Given the description of an element on the screen output the (x, y) to click on. 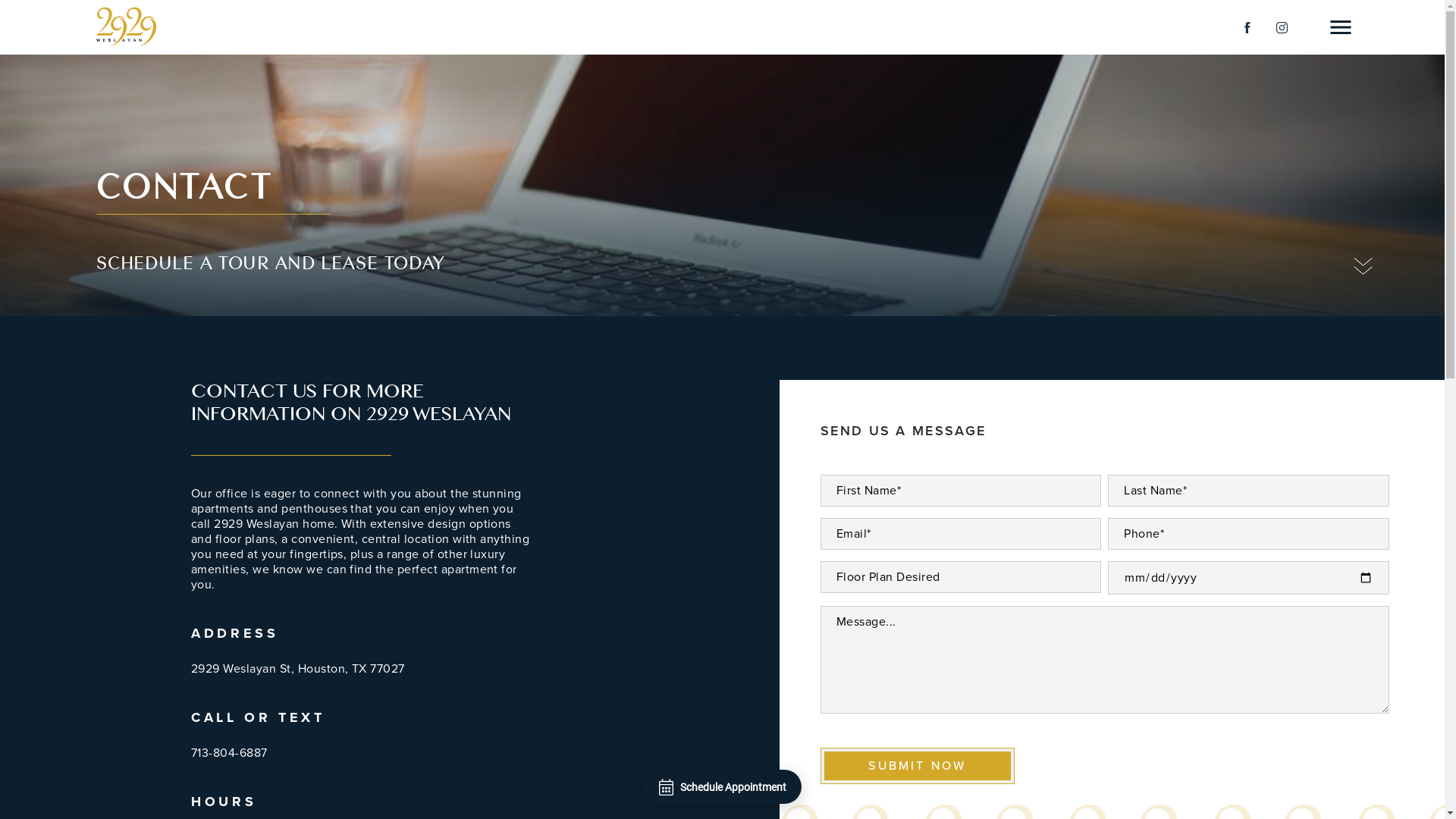
2929 Weslayan St, Houston, TX 77027 Element type: text (297, 668)
Visit us on Instagram Element type: text (1281, 26)
713-804-6887 Element type: text (229, 752)
Visit us on Facebook Element type: text (1246, 26)
Menu Element type: text (1340, 27)
SUBMIT NOW Element type: text (917, 765)
Schedule Appointment Element type: text (721, 786)
